Given the description of an element on the screen output the (x, y) to click on. 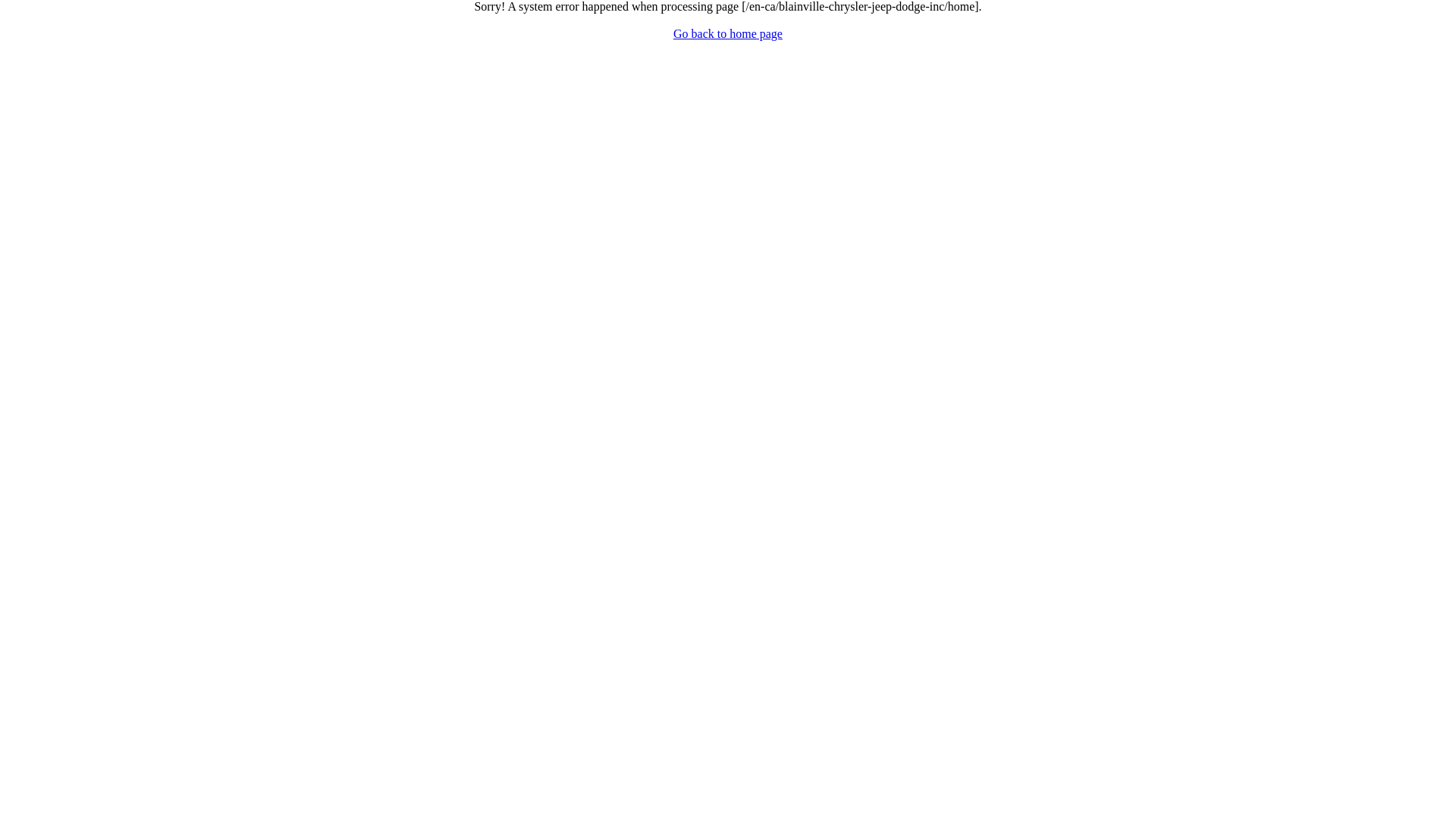
Go back to home page Element type: text (727, 33)
